Given the description of an element on the screen output the (x, y) to click on. 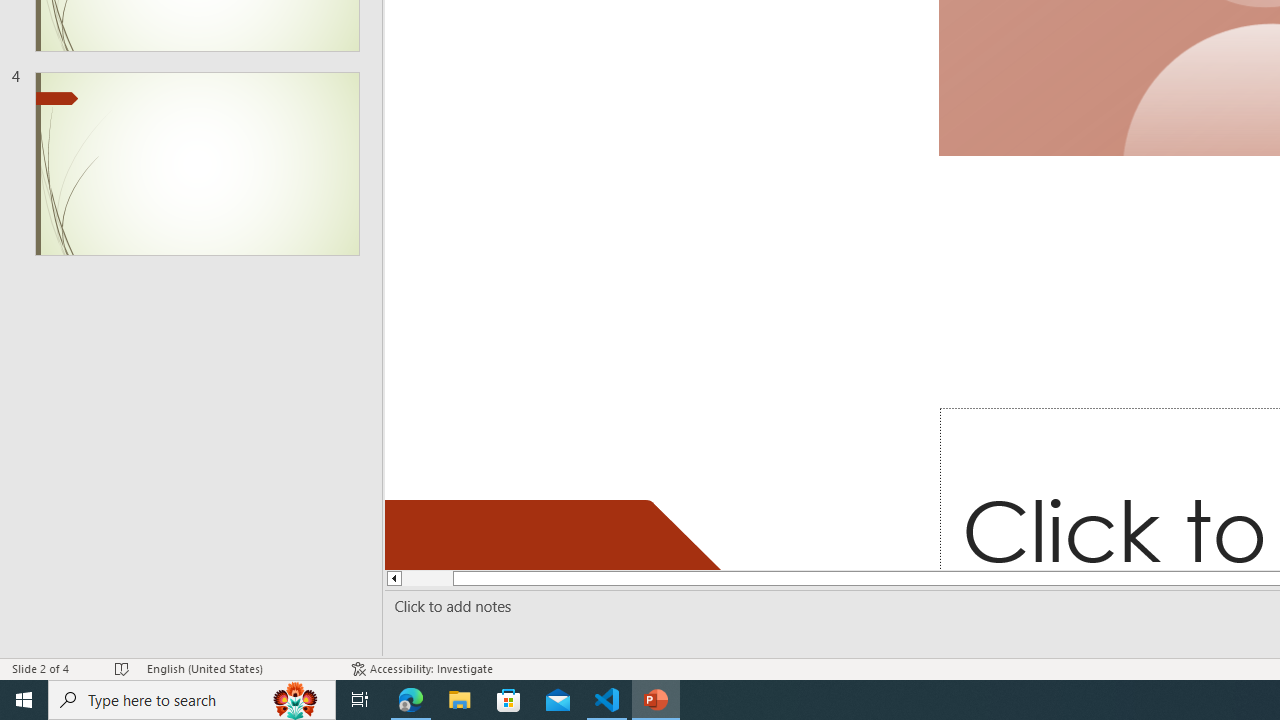
Decorative Locked (562, 534)
